Given the description of an element on the screen output the (x, y) to click on. 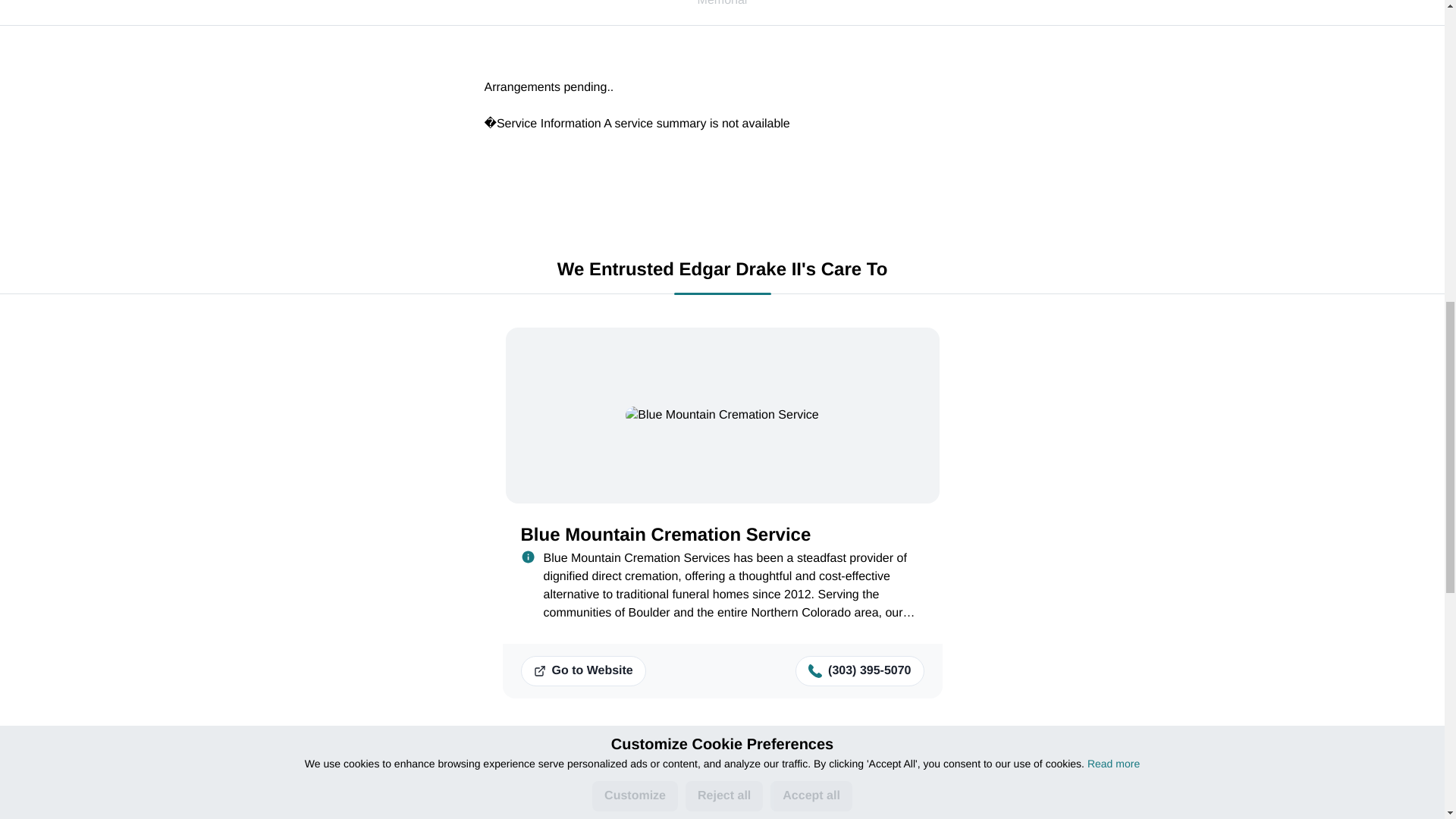
Memorial (722, 13)
Visit our Memorial Store (137, 812)
Visit our Memorial Store (138, 807)
Go to Website (582, 671)
